Given the description of an element on the screen output the (x, y) to click on. 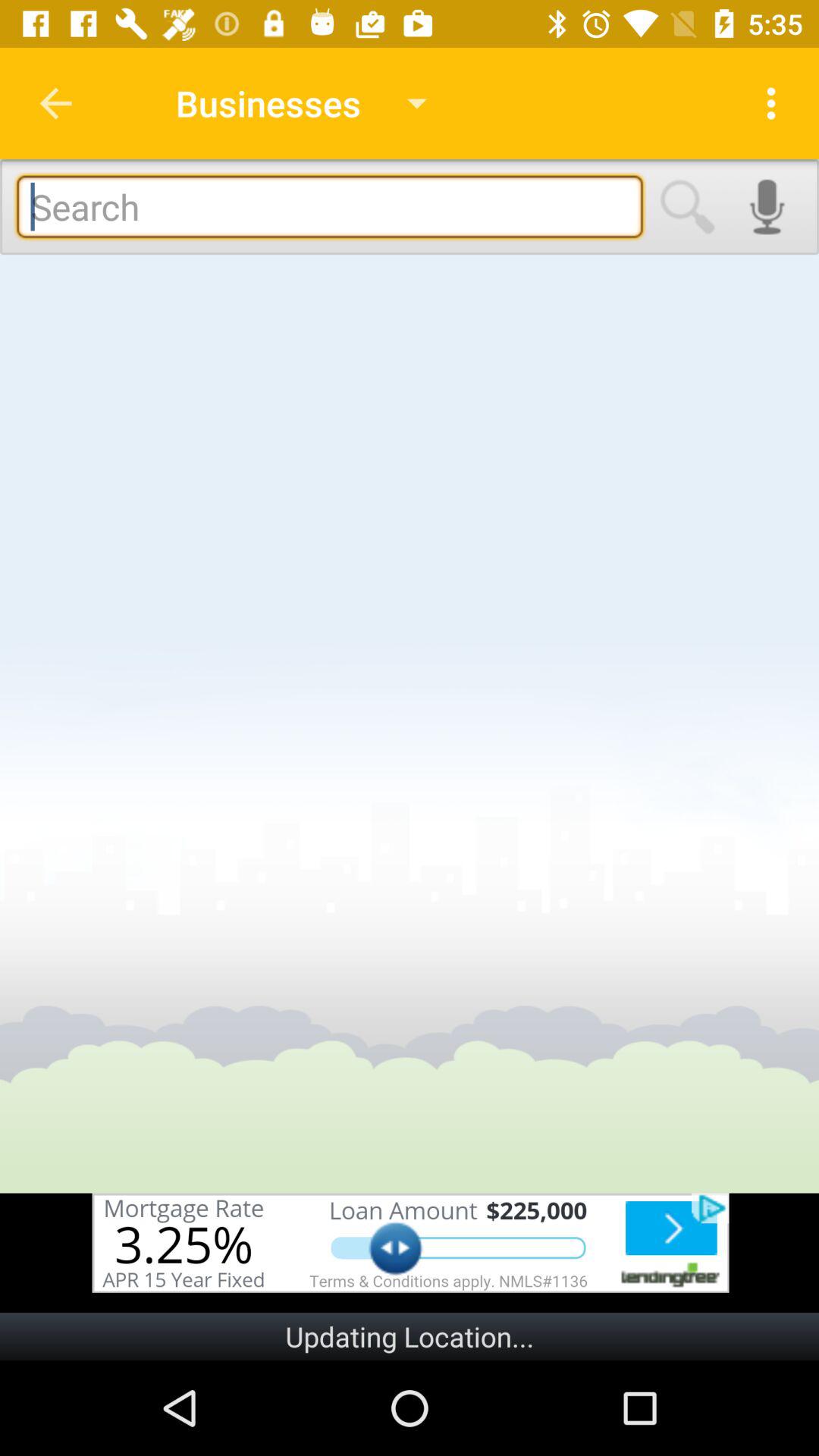
business finder (329, 206)
